Given the description of an element on the screen output the (x, y) to click on. 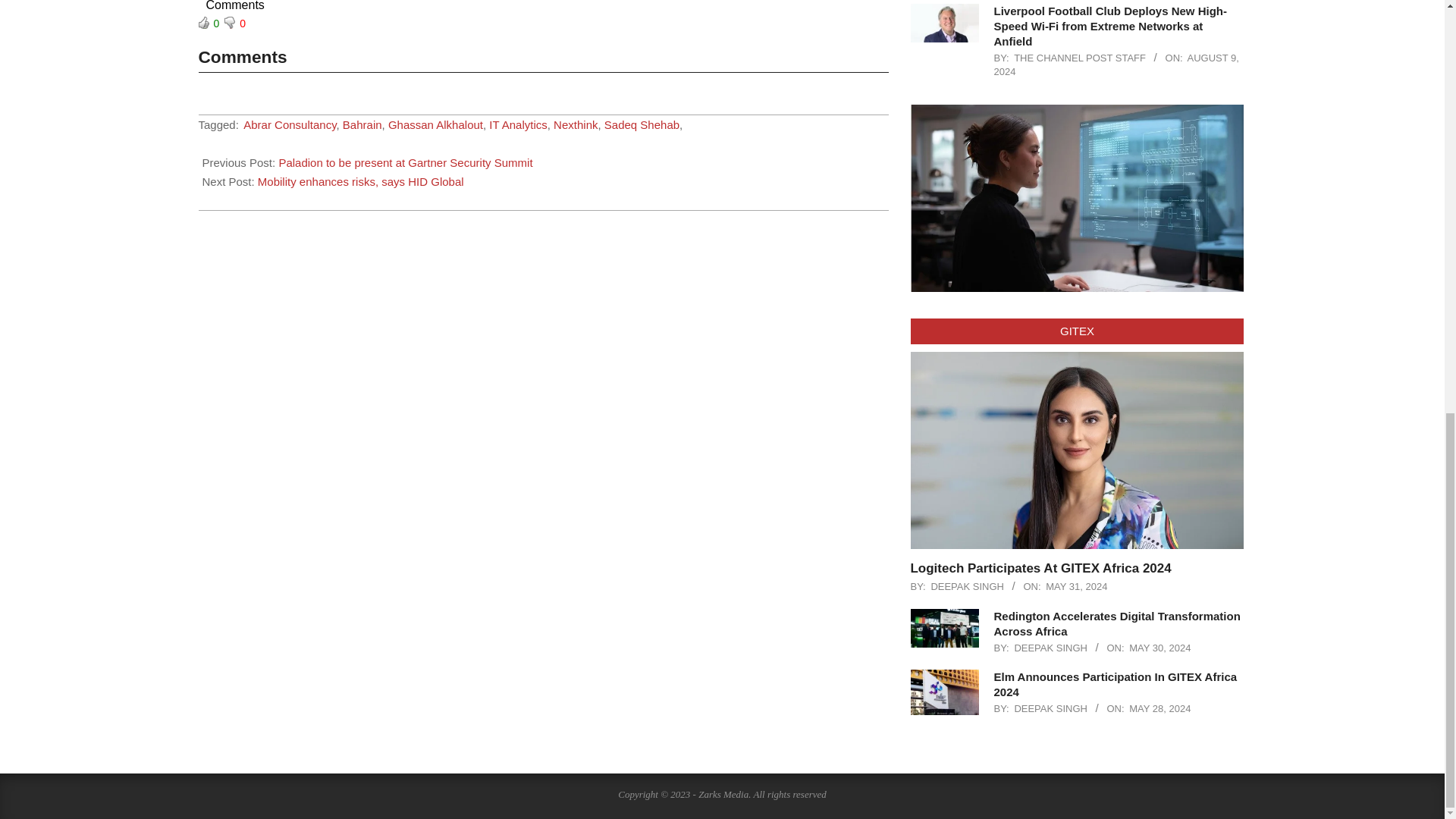
Posts by The Channel Post Staff (1079, 57)
Posts by Deepak Singh (1050, 647)
Friday, May 31, 2024, 2:40 pm (1075, 586)
Friday, August 9, 2024, 1:34 pm (1115, 64)
Posts by Deepak Singh (967, 586)
